Given the description of an element on the screen output the (x, y) to click on. 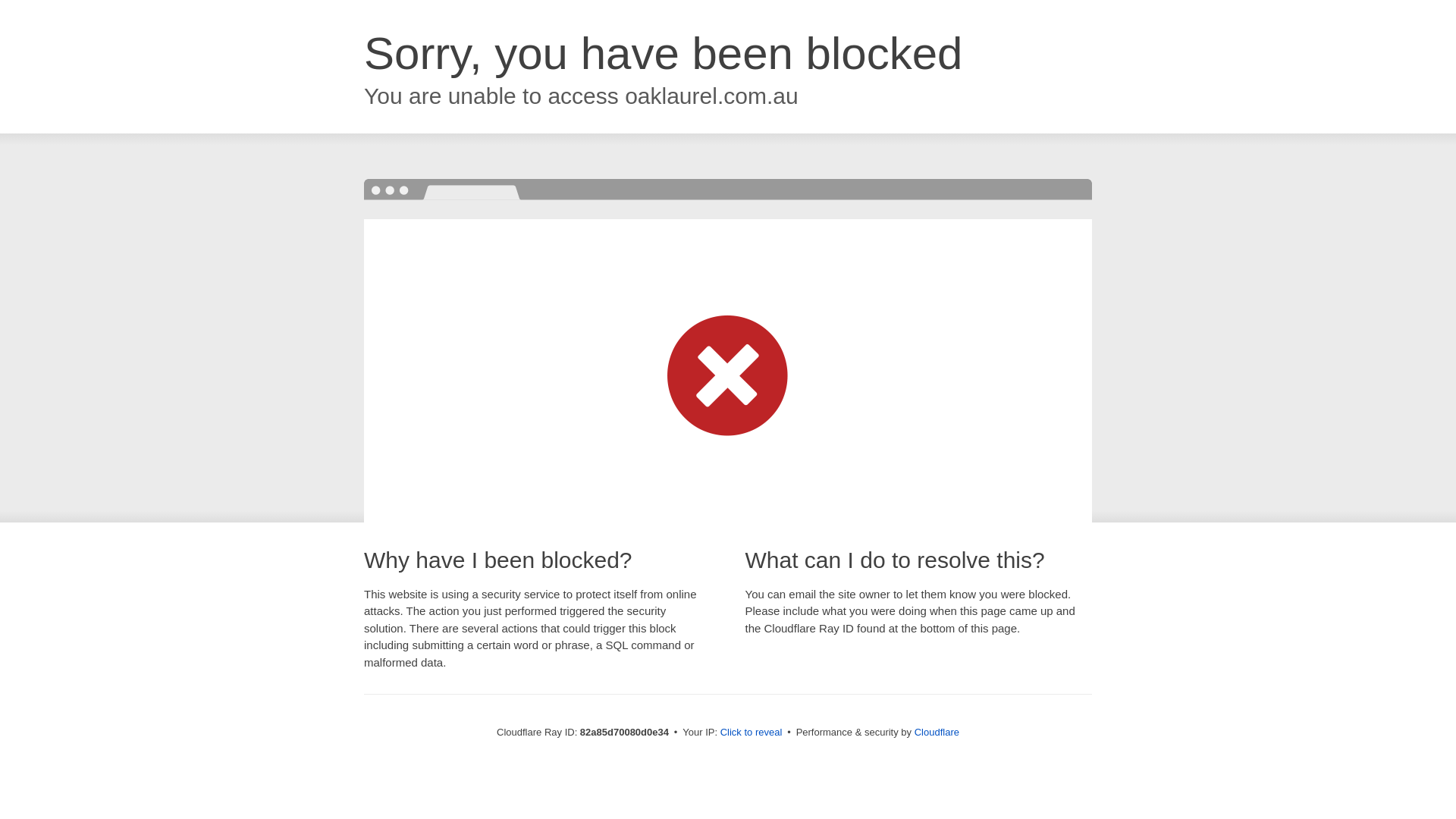
Click to reveal Element type: text (751, 732)
Cloudflare Element type: text (936, 731)
